Given the description of an element on the screen output the (x, y) to click on. 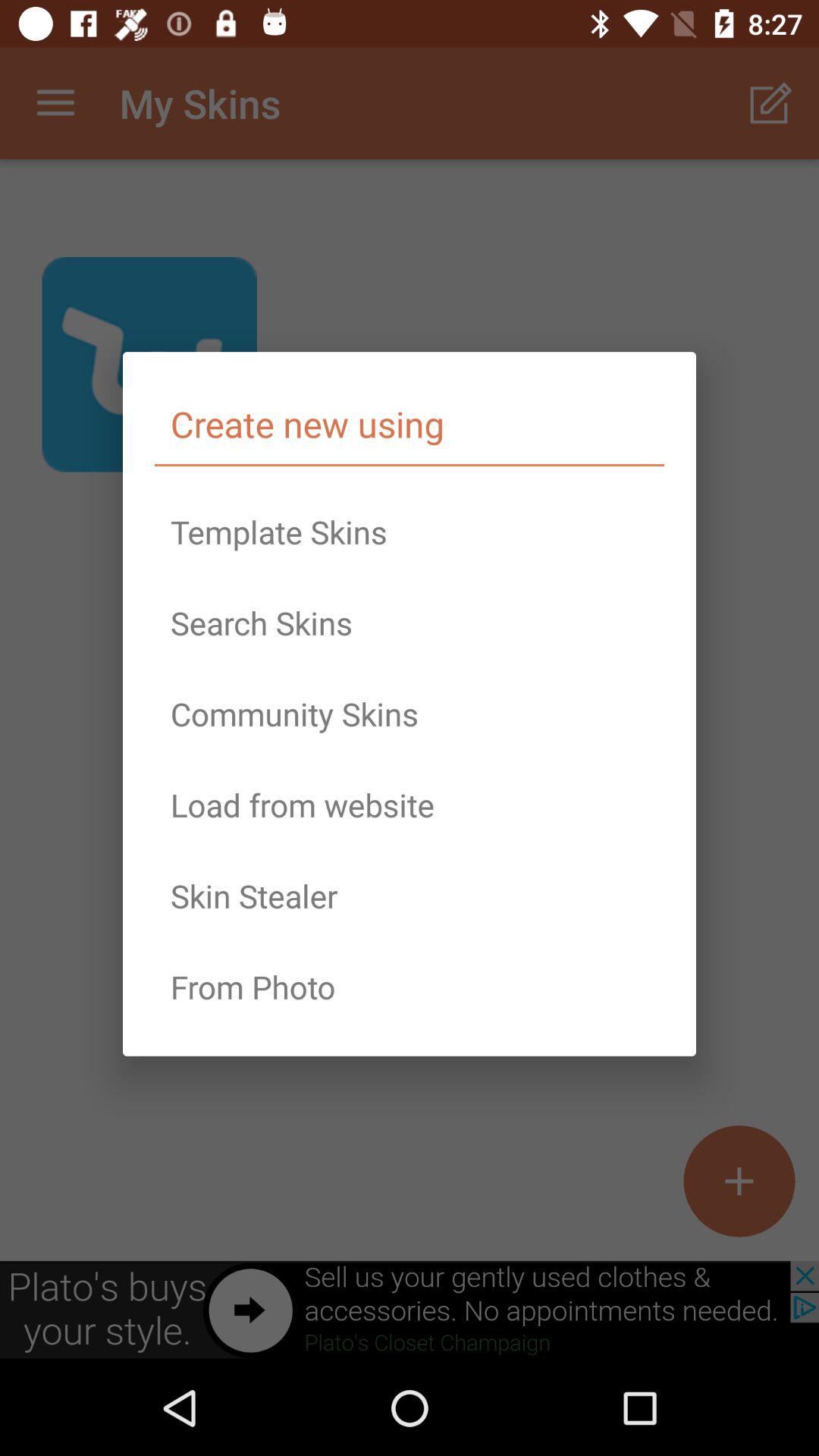
click icon below skin stealer (409, 986)
